Given the description of an element on the screen output the (x, y) to click on. 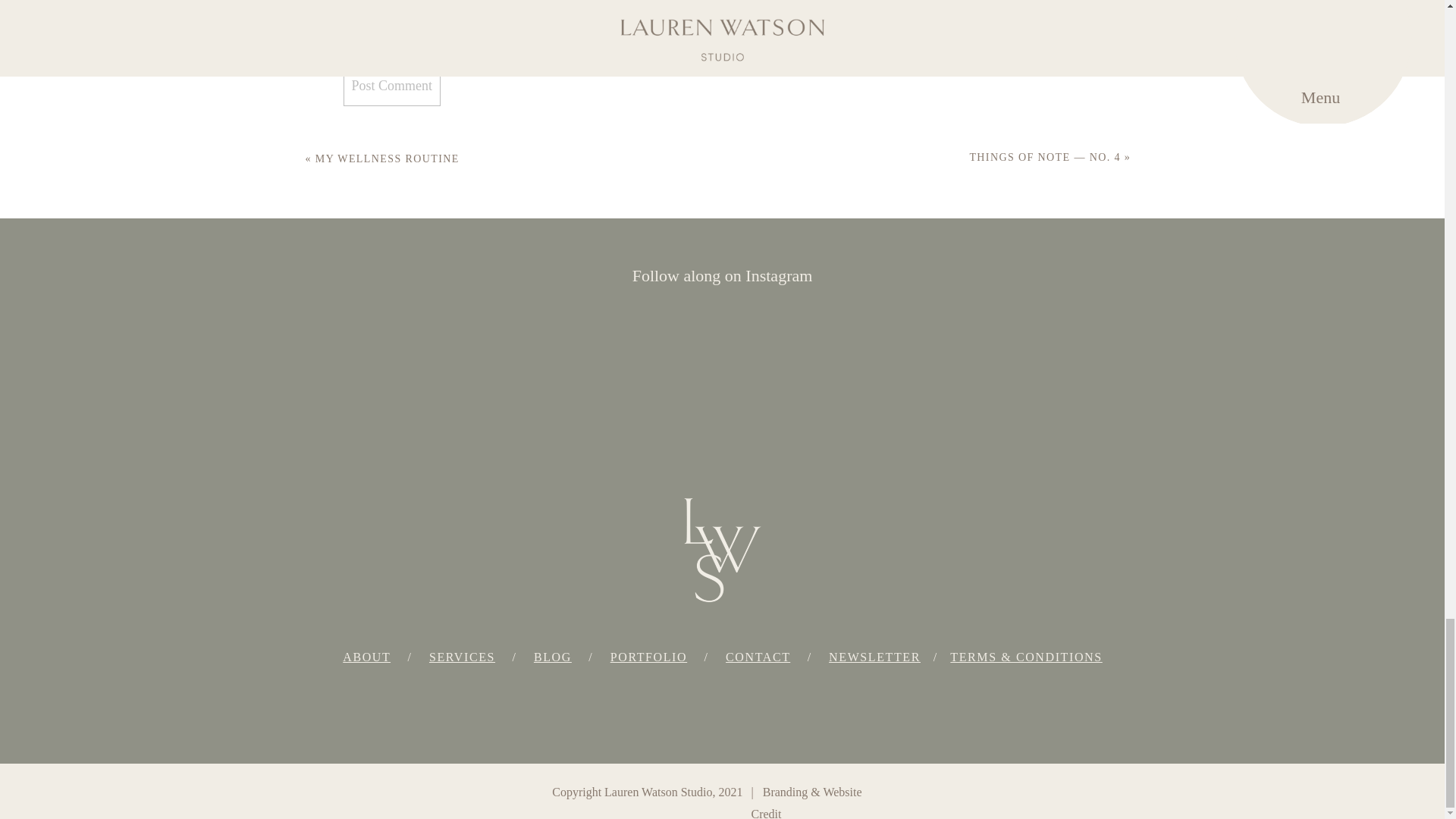
CONTACT (757, 656)
Post Comment (391, 85)
MY WELLNESS ROUTINE (387, 158)
SERVICES (462, 656)
NEWSLETTER (874, 656)
yes (350, 11)
PORTFOLIO (648, 656)
Post Comment (391, 85)
ABOUT (366, 656)
BLOG (553, 656)
